Given the description of an element on the screen output the (x, y) to click on. 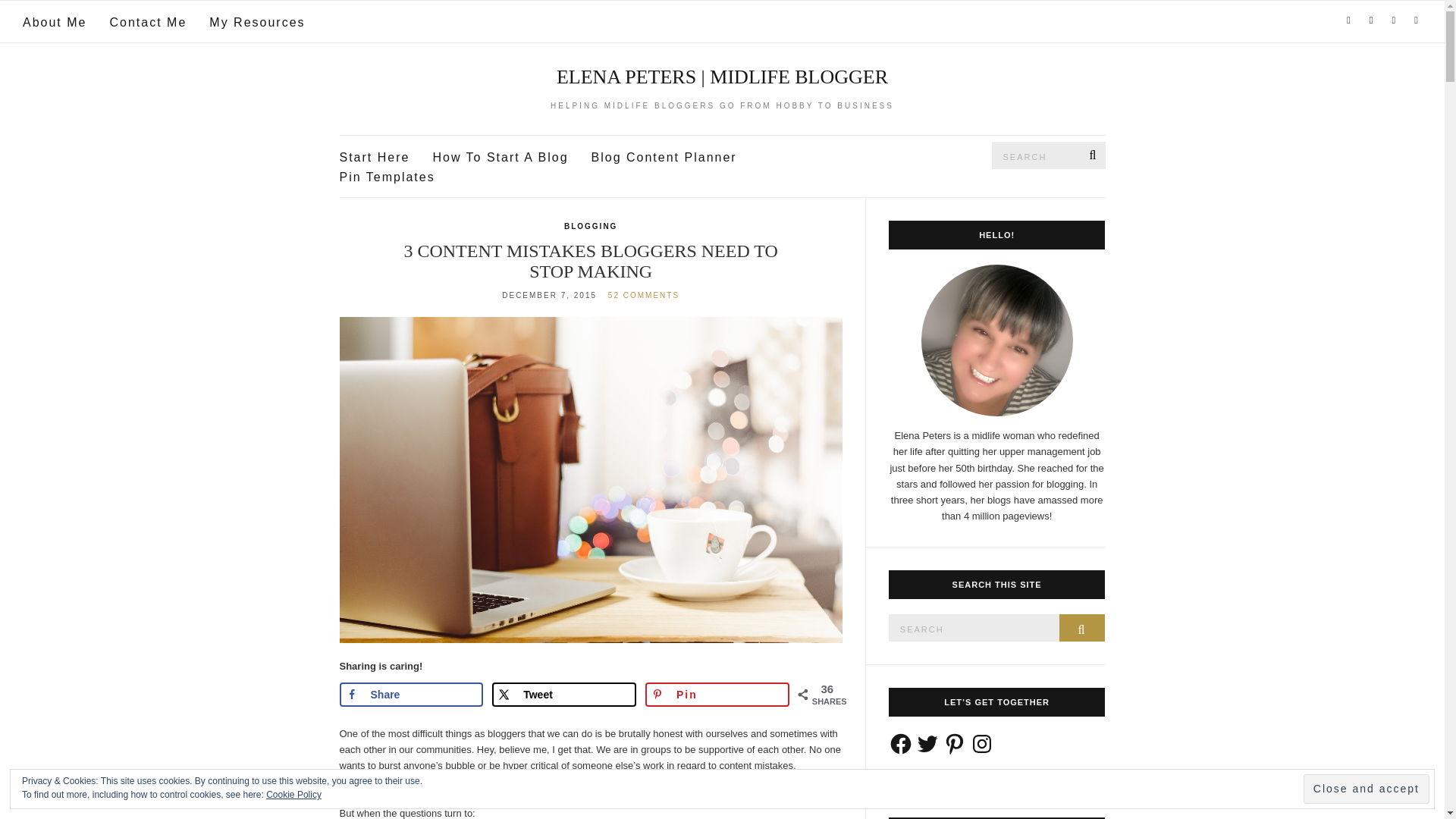
Share (411, 694)
Pin (717, 694)
My Resources (256, 22)
Share on X (564, 694)
Pin Templates (387, 177)
BLOGGING (590, 226)
Save to Pinterest (717, 694)
Contact Me (147, 22)
About Me (54, 22)
52 COMMENTS (643, 295)
How To Start A Blog (499, 157)
Blog Content Planner (663, 157)
Tweet (564, 694)
Close and accept (1366, 788)
Start Here (374, 157)
